Given the description of an element on the screen output the (x, y) to click on. 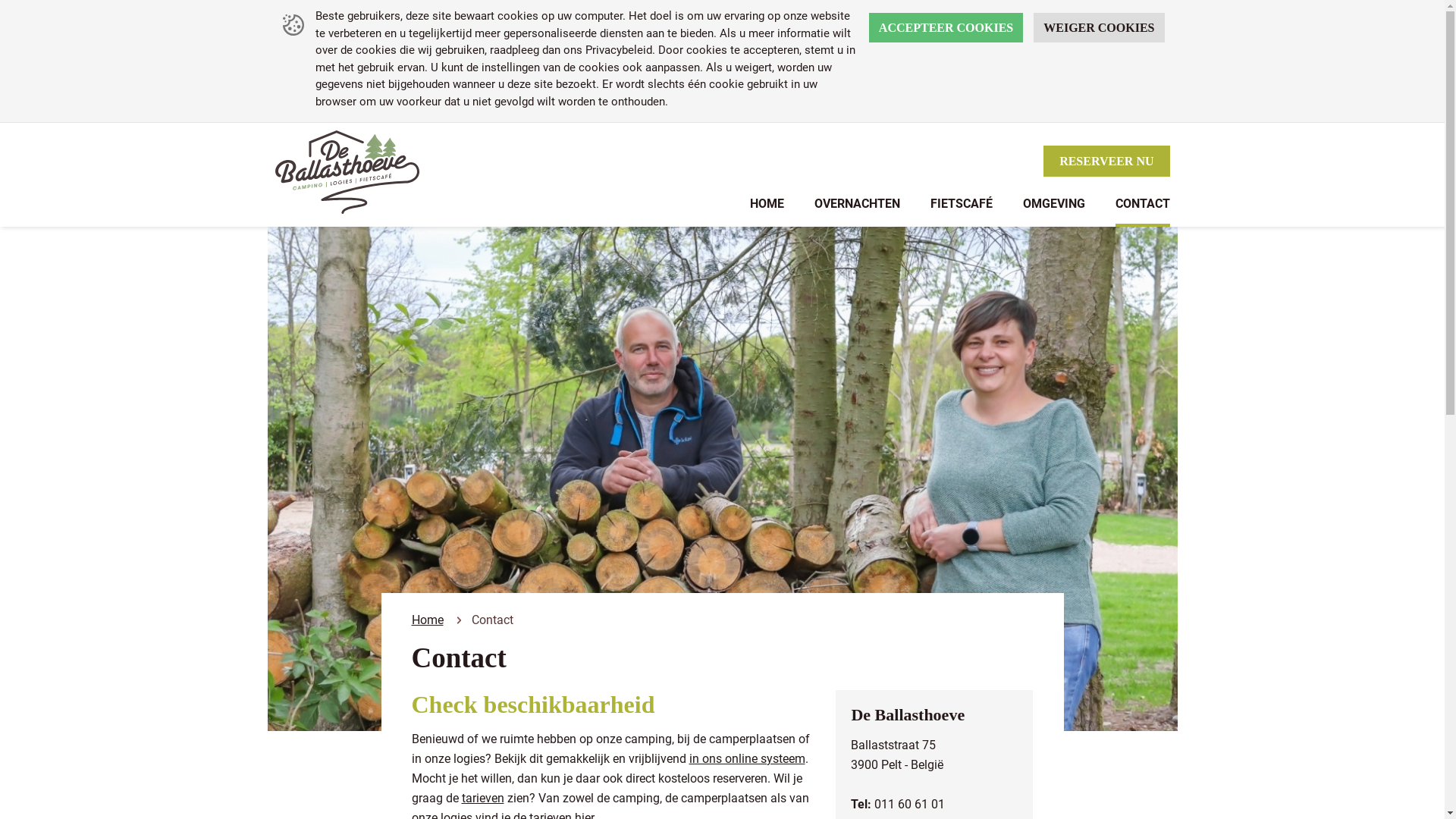
OMGEVING Element type: text (1053, 210)
OVERNACHTEN Element type: text (857, 210)
011 60 61 01 Element type: text (909, 804)
HOME Element type: text (766, 210)
tarieven Element type: text (482, 797)
WEIGER COOKIES Element type: text (1098, 27)
ACCEPTEER COOKIES Element type: text (945, 27)
CONTACT Element type: text (1141, 210)
RESERVEER NU Element type: text (1106, 160)
in ons online systeem Element type: text (746, 758)
Home Element type: text (426, 619)
